Given the description of an element on the screen output the (x, y) to click on. 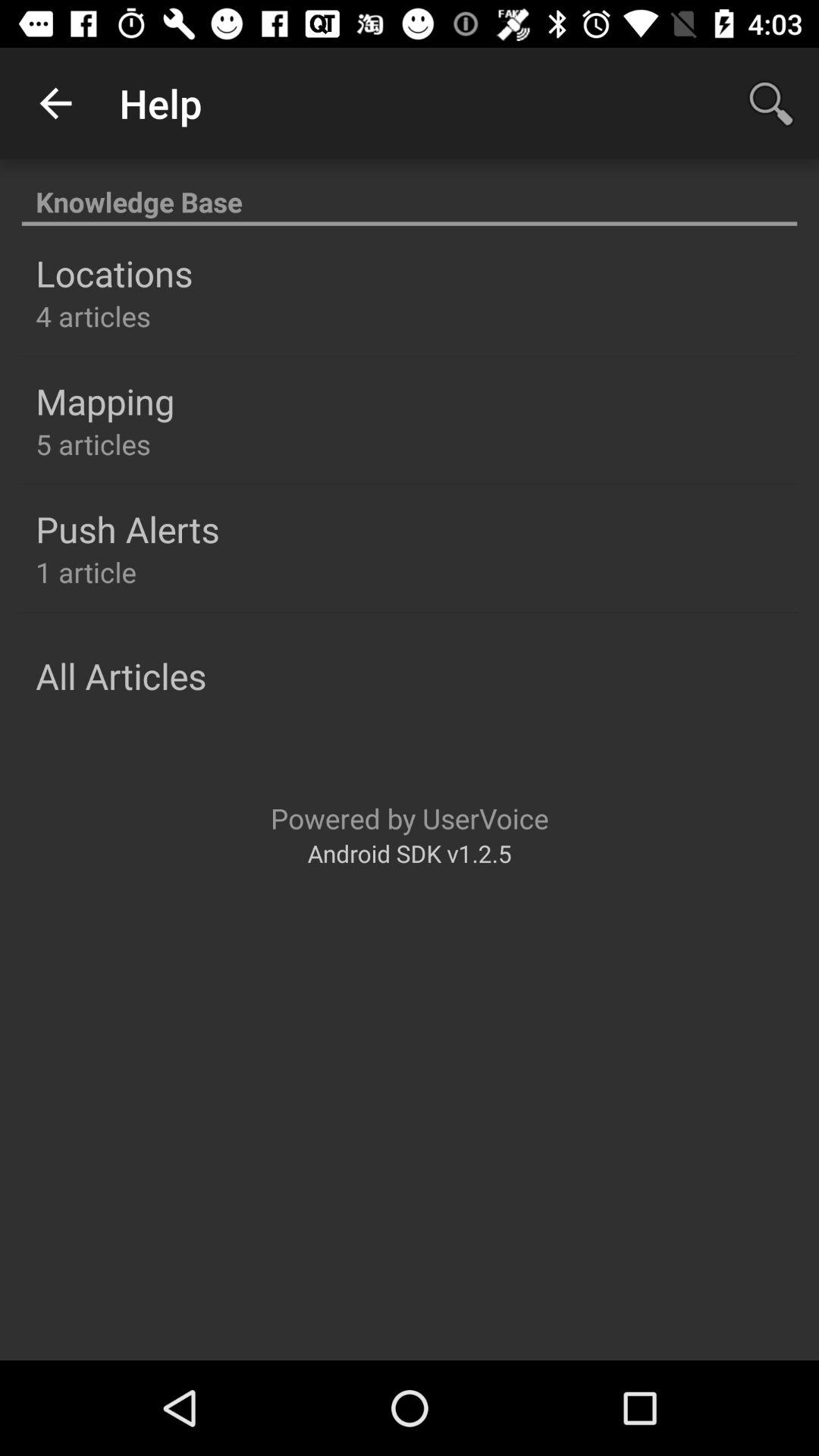
select all articles (120, 675)
